Given the description of an element on the screen output the (x, y) to click on. 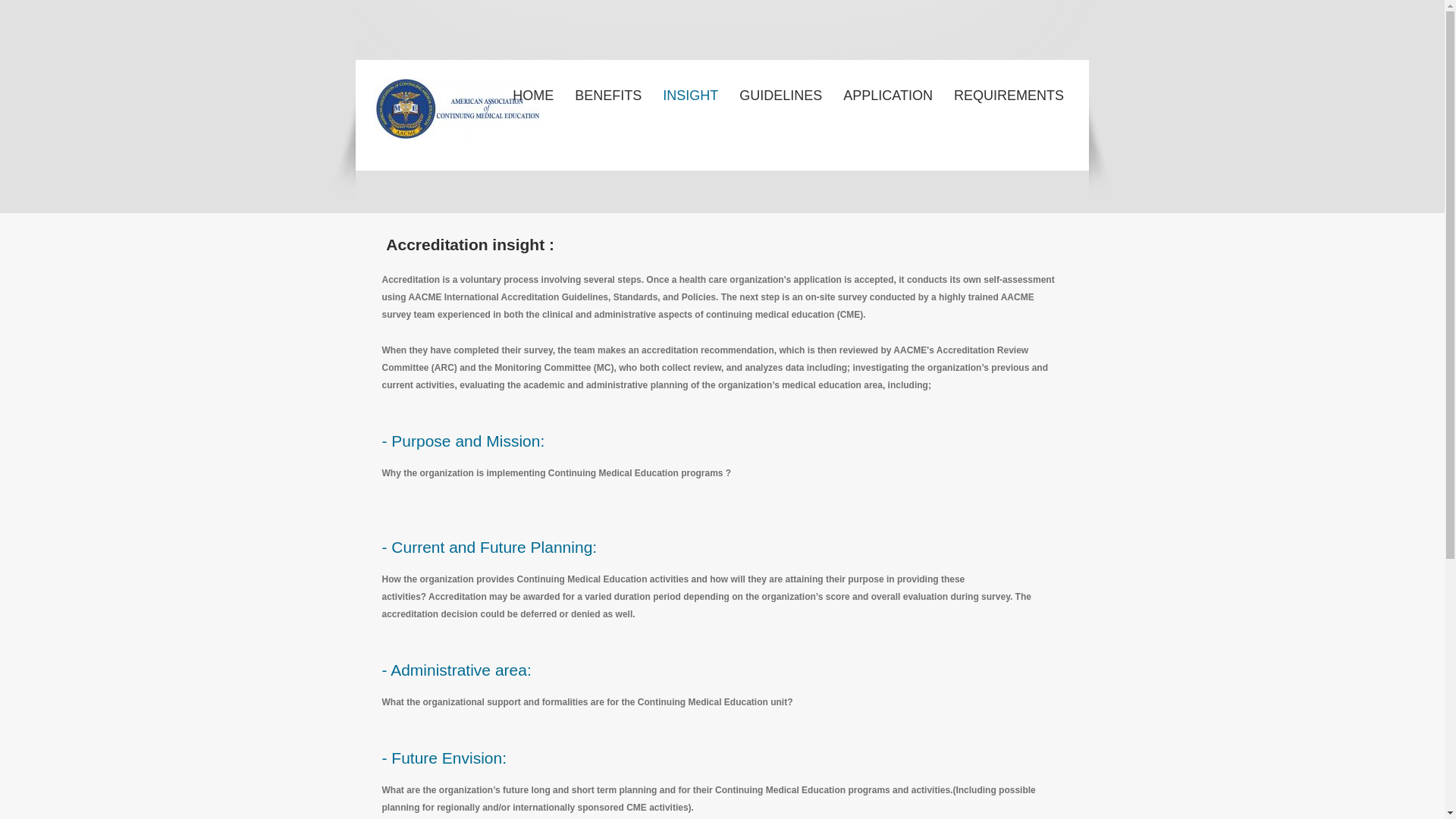
BENEFITS (606, 89)
GUIDELINES (779, 89)
INSIGHT (689, 89)
HOME (531, 89)
REQUIREMENTS (1008, 89)
APPLICATION (886, 89)
